Given the description of an element on the screen output the (x, y) to click on. 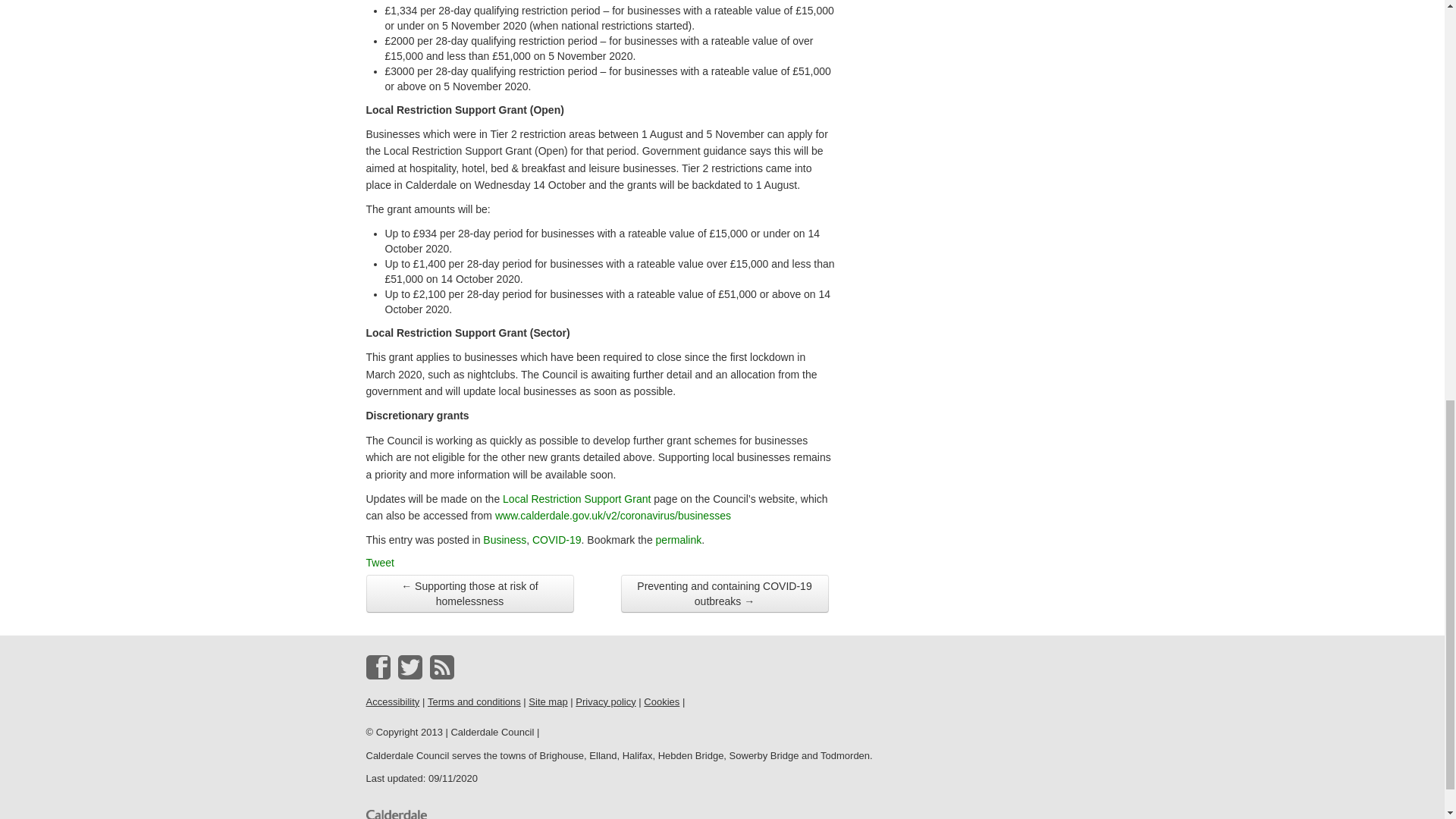
Twitter (409, 667)
RSS (440, 667)
permalink (678, 539)
Local Restriction Support Grant (576, 499)
Facebook (377, 667)
Permalink to New COVID-19 business grants set to launch (678, 539)
COVID-19 (556, 539)
Business (504, 539)
Tweet (379, 562)
